Given the description of an element on the screen output the (x, y) to click on. 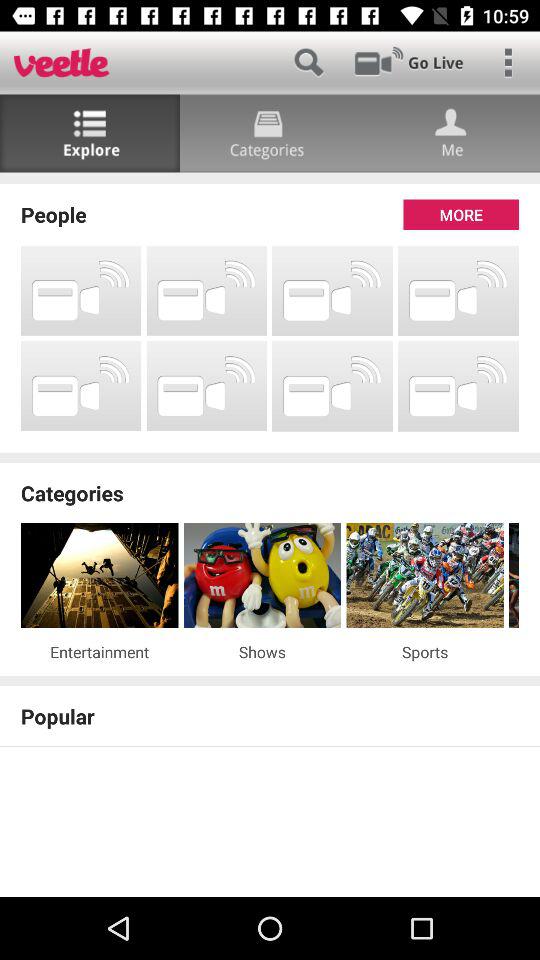
click the item above the more icon (270, 178)
